Given the description of an element on the screen output the (x, y) to click on. 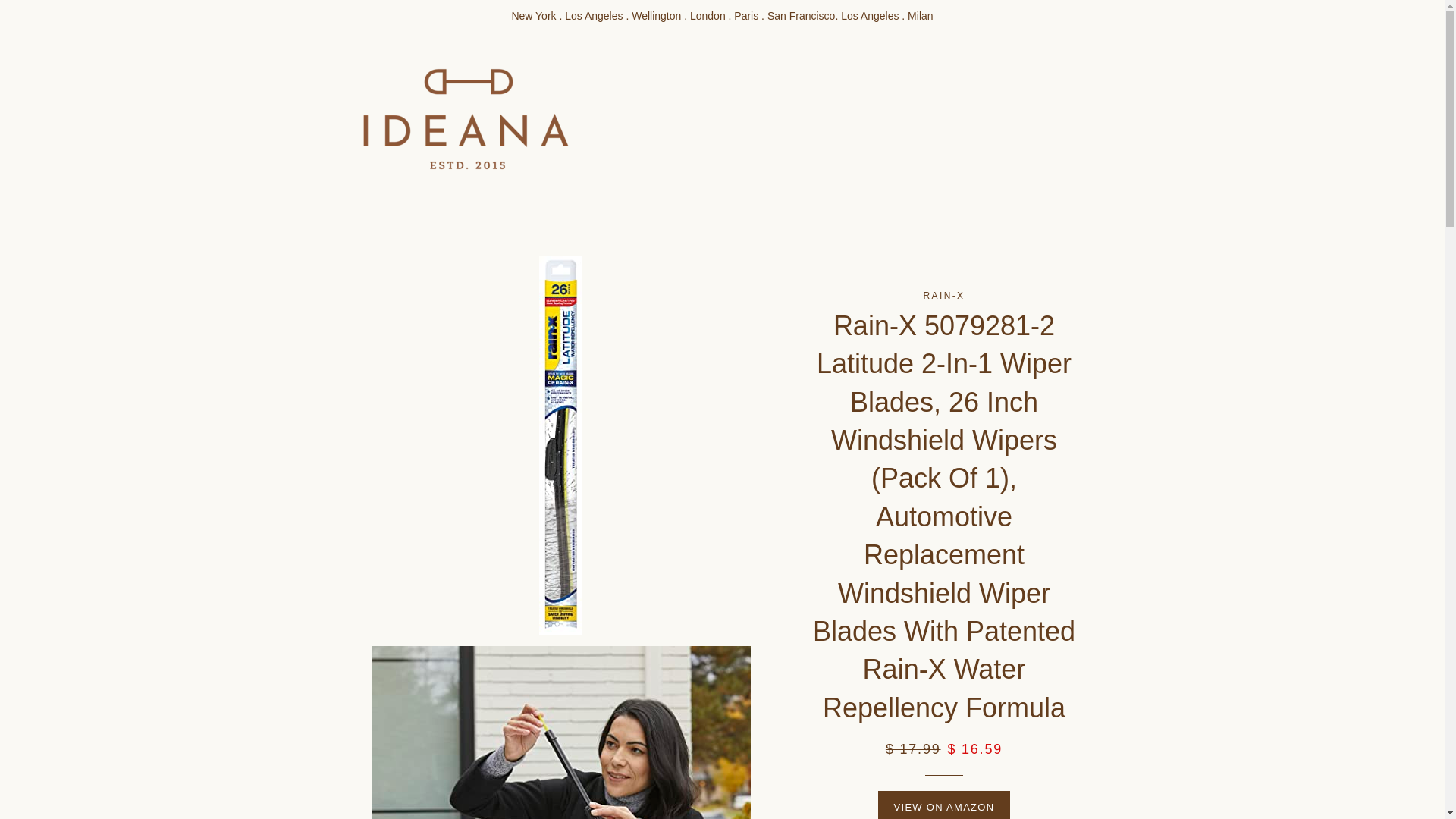
VIEW ON AMAZON (943, 805)
